Given the description of an element on the screen output the (x, y) to click on. 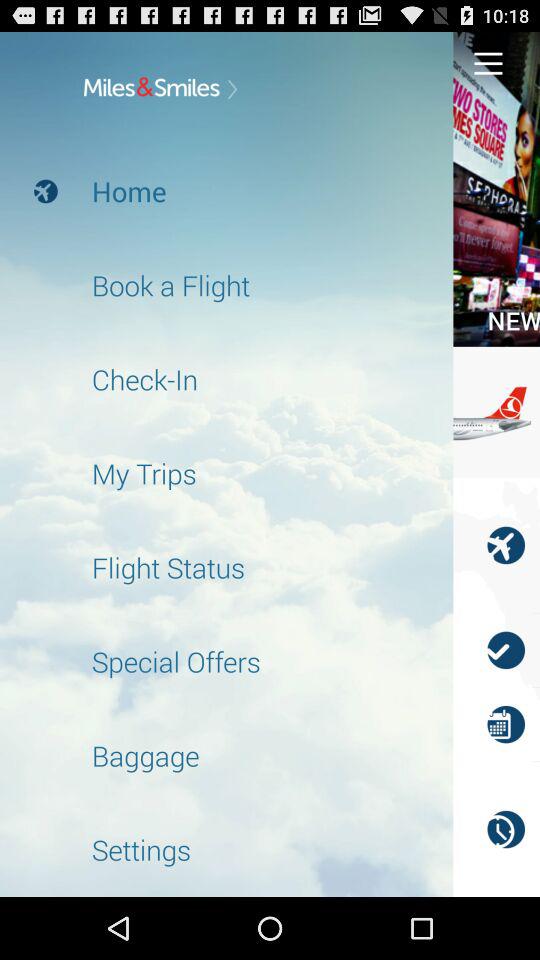
menu (488, 62)
